Given the description of an element on the screen output the (x, y) to click on. 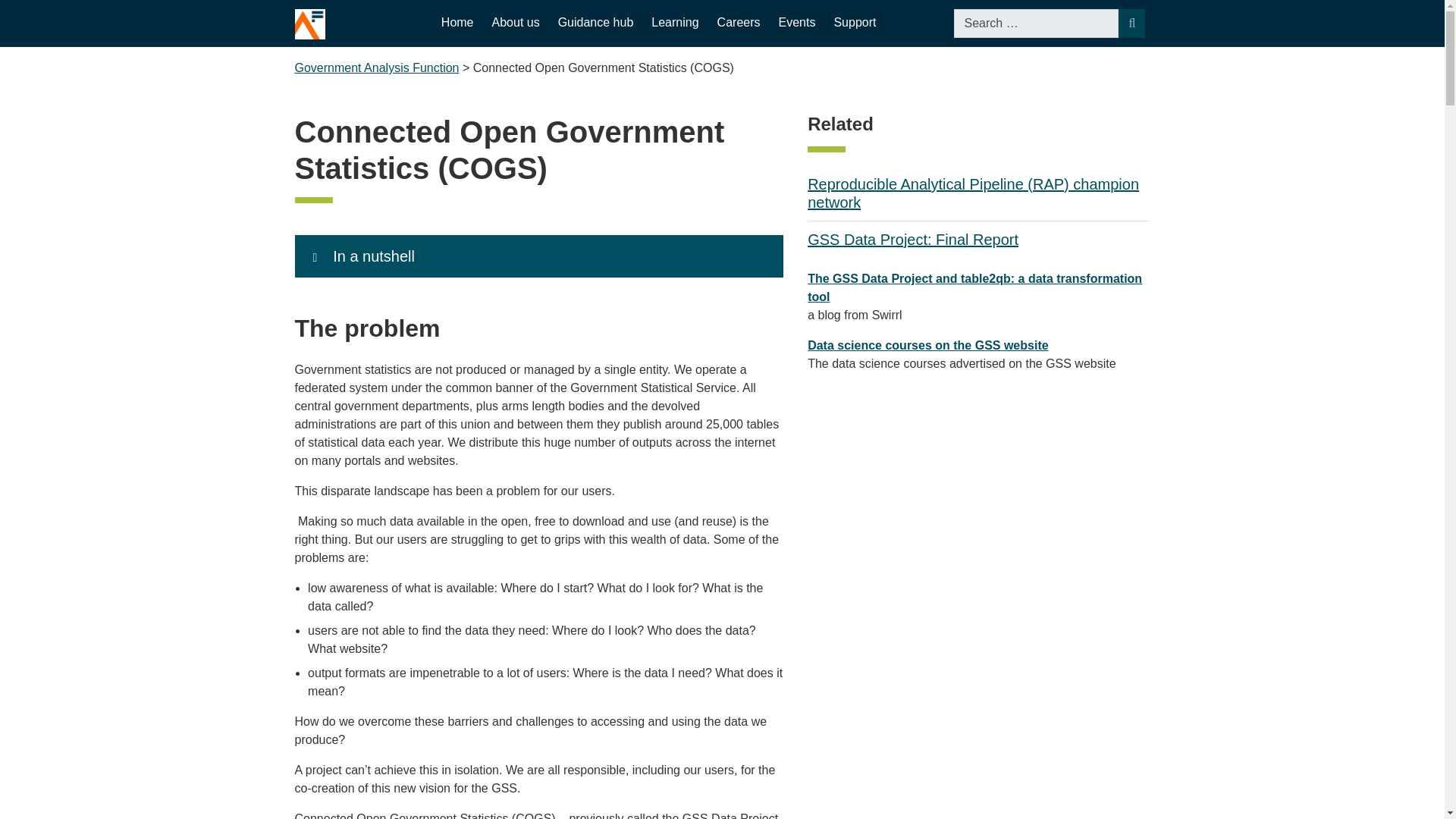
Data science courses on the GSS website (928, 345)
Government Analysis Function (376, 67)
In a nutshell (538, 256)
Guidance hub (595, 22)
Search (1131, 23)
GSS Data Project: Final Report (912, 239)
About us (516, 22)
Careers (738, 22)
Support (854, 22)
Learning (674, 22)
Search for: (1035, 23)
